Given the description of an element on the screen output the (x, y) to click on. 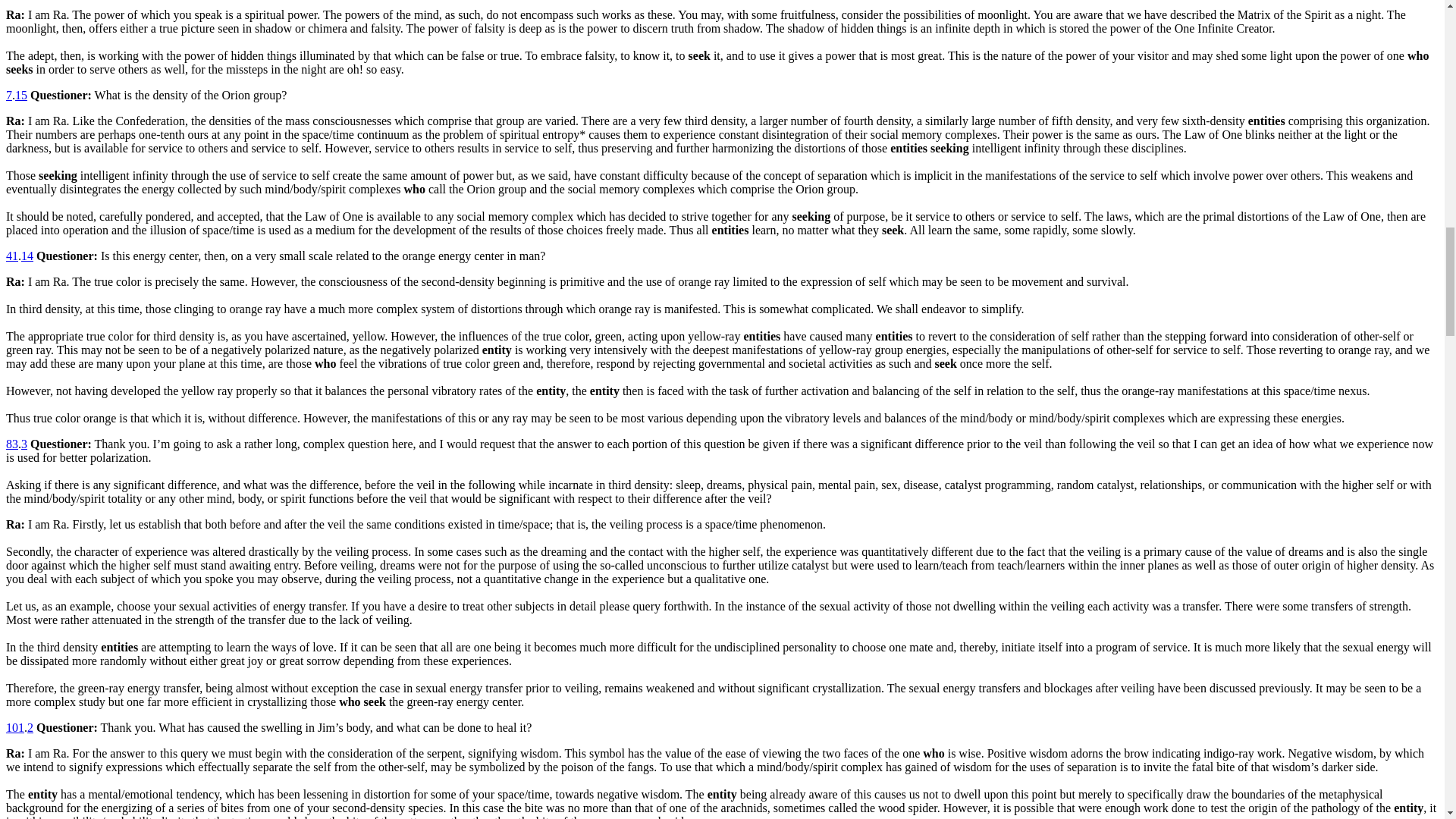
14 (27, 255)
3 (24, 443)
83 (11, 443)
41 (11, 255)
101 (14, 727)
7 (8, 94)
15 (20, 94)
